Given the description of an element on the screen output the (x, y) to click on. 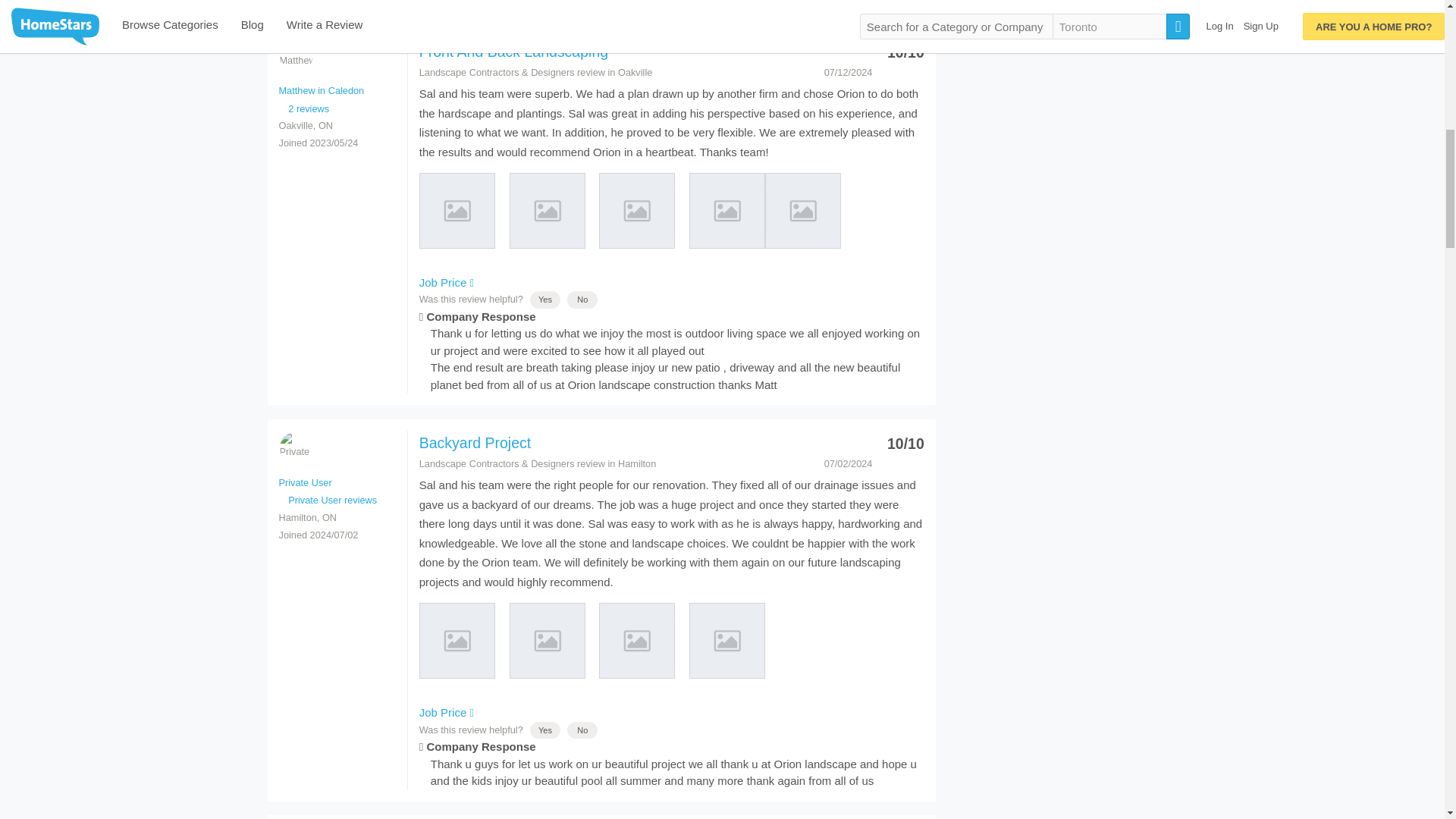
Matthew in Caledon (322, 90)
Matthew in Caledon (295, 56)
2 reviews (304, 107)
Yes (545, 729)
Front And Back Landscaping (513, 51)
No (582, 299)
Private User (295, 447)
Yes (545, 299)
